Given the description of an element on the screen output the (x, y) to click on. 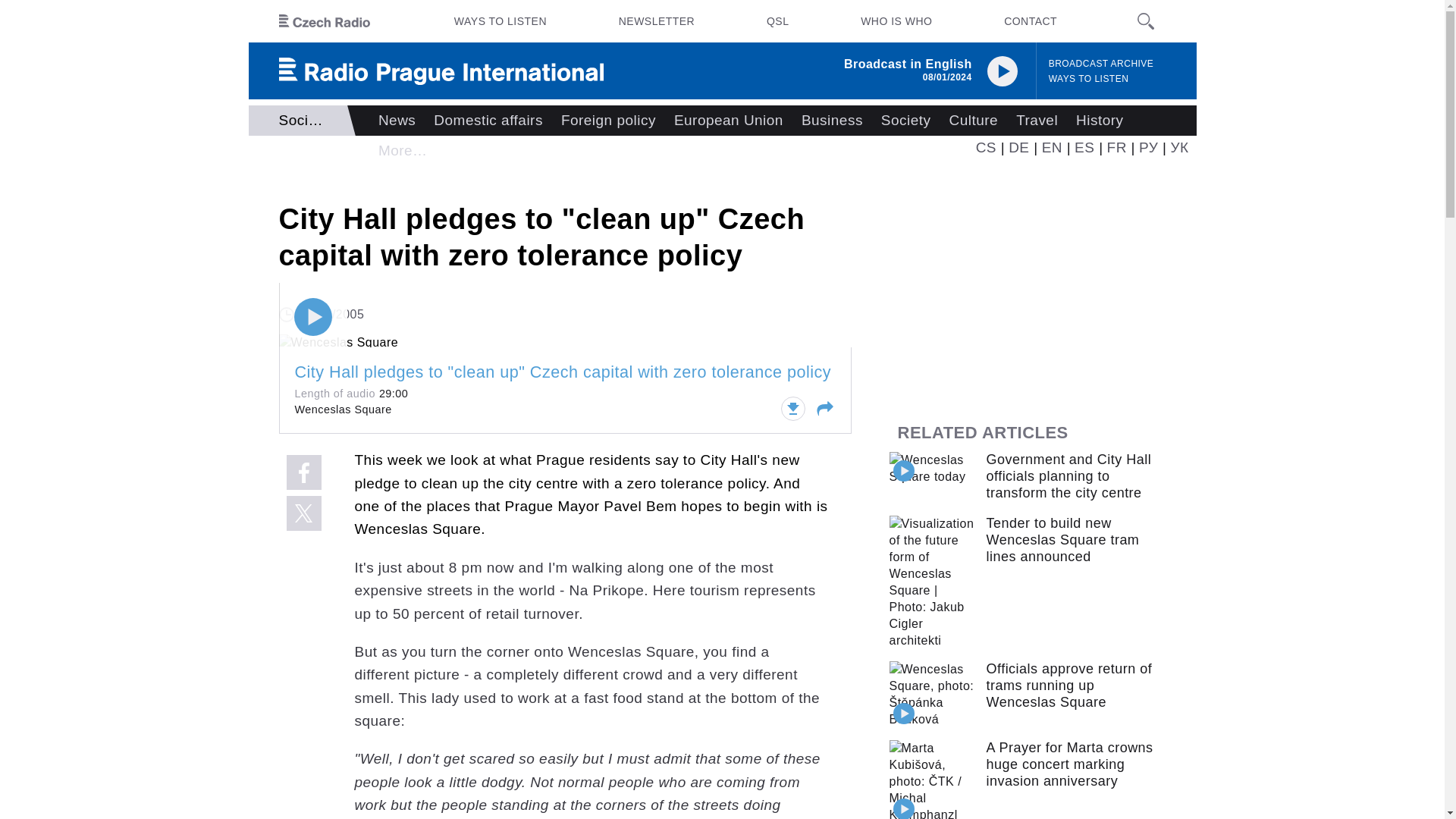
FR (1116, 147)
DE (1019, 147)
Czech Radio (324, 21)
Business (832, 120)
Domestic affairs (488, 120)
WAYS TO LISTEN (1088, 78)
History (1099, 120)
Culture (973, 120)
News (397, 120)
Foreign policy (608, 120)
European Union (728, 120)
Society (906, 120)
Travel (1037, 120)
Broadcast in English  (908, 63)
